Given the description of an element on the screen output the (x, y) to click on. 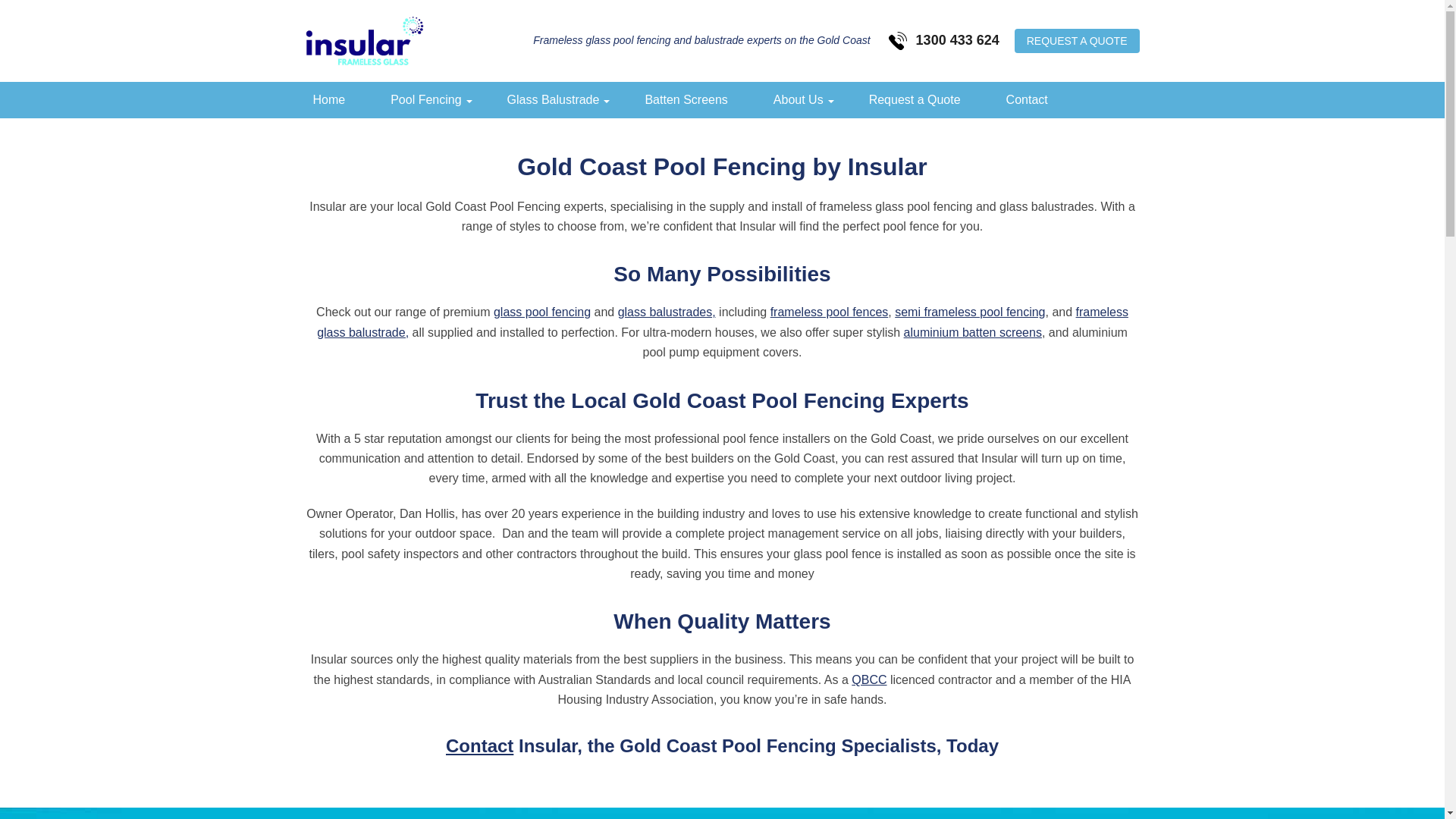
Home Element type: text (328, 99)
Batten Screens Element type: text (685, 99)
Contact Element type: text (1026, 99)
aluminium batten screens Element type: text (972, 332)
Glass Balustrade Element type: text (553, 99)
Contact Element type: text (479, 745)
Pool Fencing Element type: text (425, 99)
frameless glass balustrade, Element type: text (722, 321)
QBCC Element type: text (868, 679)
frameless pool fences Element type: text (829, 311)
glass balustrades Element type: text (665, 311)
1300 433 624 Element type: text (943, 40)
REQUEST A QUOTE Element type: text (1076, 40)
semi frameless pool fencing Element type: text (969, 311)
Request a Quote Element type: text (914, 99)
, Element type: text (713, 311)
glass pool fencing Element type: text (541, 311)
About Us Element type: text (798, 99)
